Given the description of an element on the screen output the (x, y) to click on. 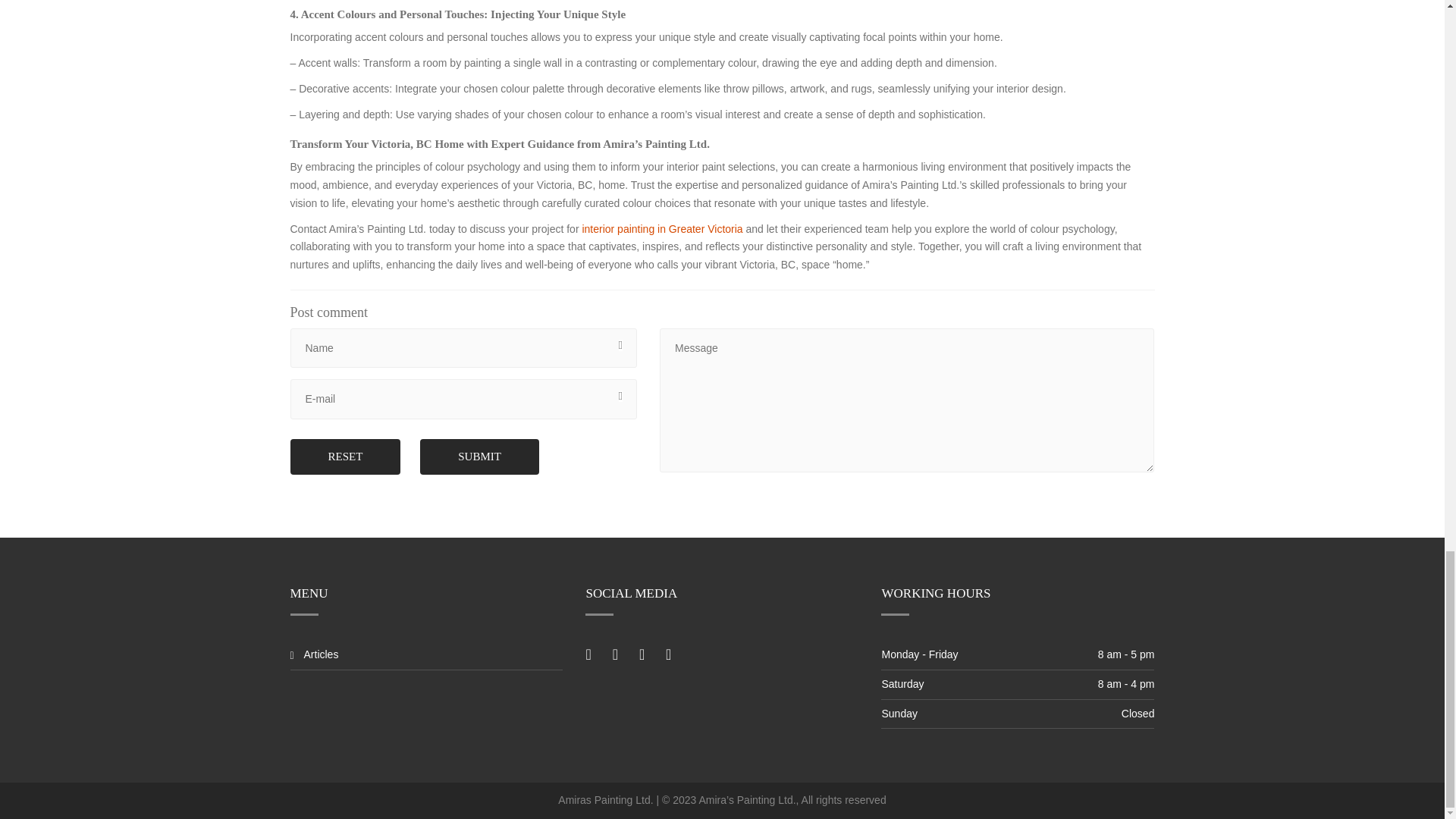
Twitter (615, 654)
Linked In (641, 654)
Houzz (668, 654)
SUBMIT (479, 456)
interior painting in Greater Victoria (661, 228)
Instagram (692, 654)
Facebook (588, 654)
Instagram (692, 654)
Houzz (668, 654)
Articles (320, 655)
